Given the description of an element on the screen output the (x, y) to click on. 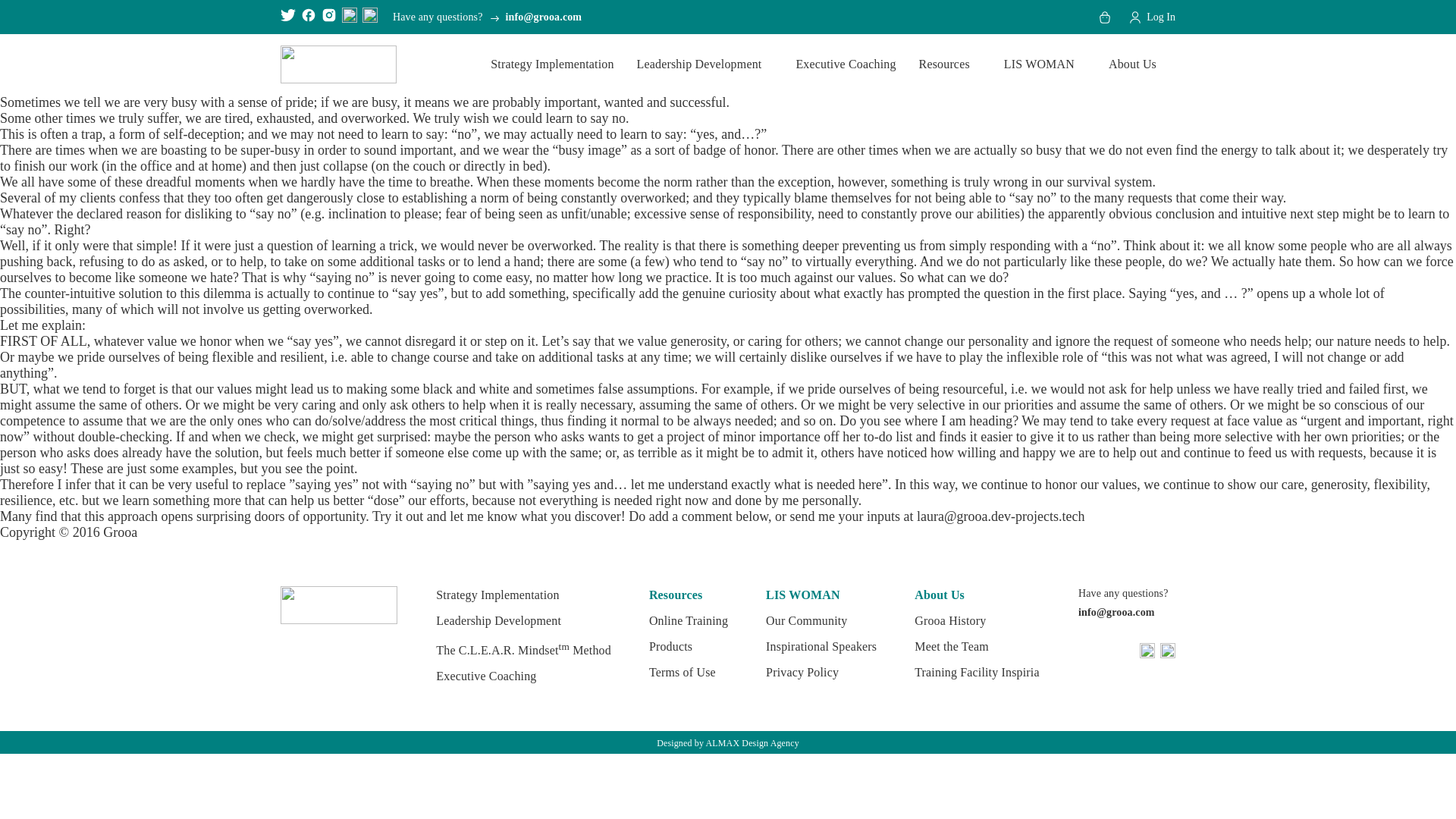
Resources (949, 64)
Strategy Implementation (552, 64)
Executive Coaching (844, 64)
Log In (1150, 16)
LIS WOMAN (1044, 64)
Leadership Development (704, 64)
About Us (1137, 64)
